Given the description of an element on the screen output the (x, y) to click on. 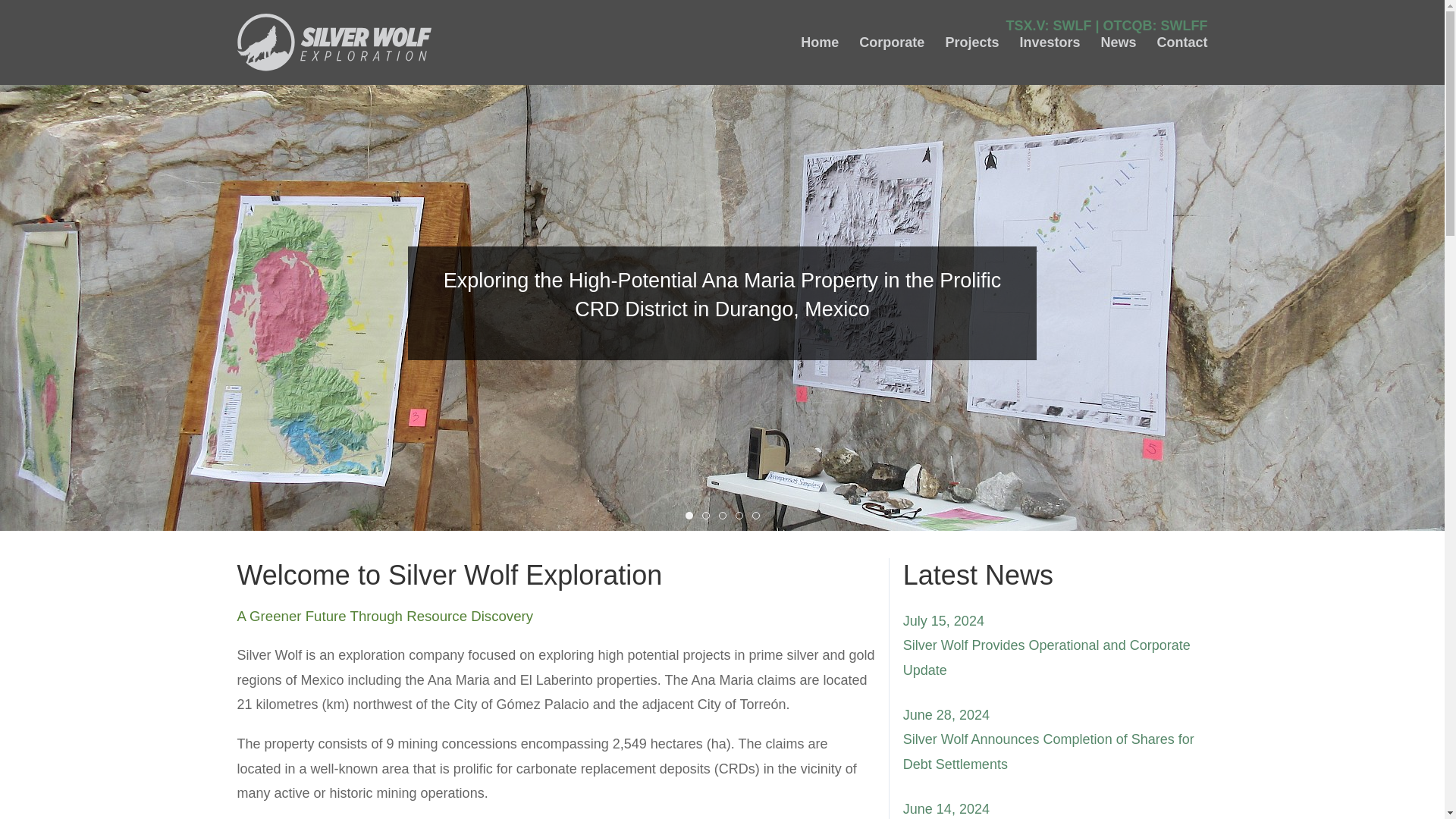
Home (819, 42)
Contact (1182, 42)
Investors (1049, 42)
News (1117, 42)
Back to Home Page (332, 42)
A Greener Future Through Resource Discovery (383, 613)
Projects (971, 42)
Corporate (891, 42)
